Given the description of an element on the screen output the (x, y) to click on. 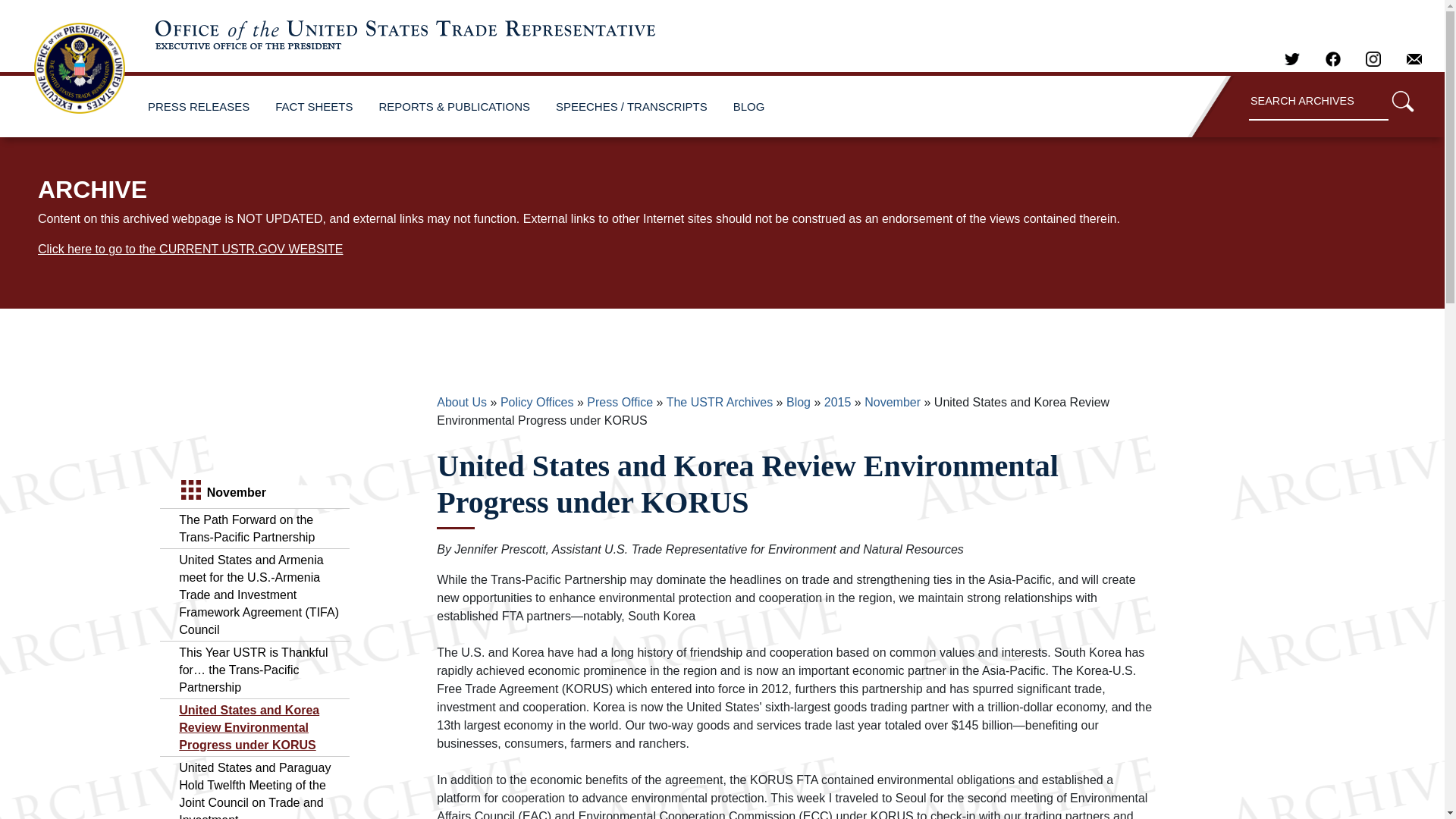
2015 (837, 401)
Click here to go to the CURRENT USTR.GOV WEBSITE (189, 248)
The Path Forward on the Trans-Pacific Partnership (246, 528)
The USTR Archives (719, 401)
The Path Forward on the Trans-Pacific Partnership (246, 528)
Policy Offices (536, 401)
November (892, 401)
Press Office (619, 401)
FACT SHEETS (313, 106)
BLOG (749, 106)
PRESS RELEASES (198, 106)
About Us (461, 401)
Blog (798, 401)
